Given the description of an element on the screen output the (x, y) to click on. 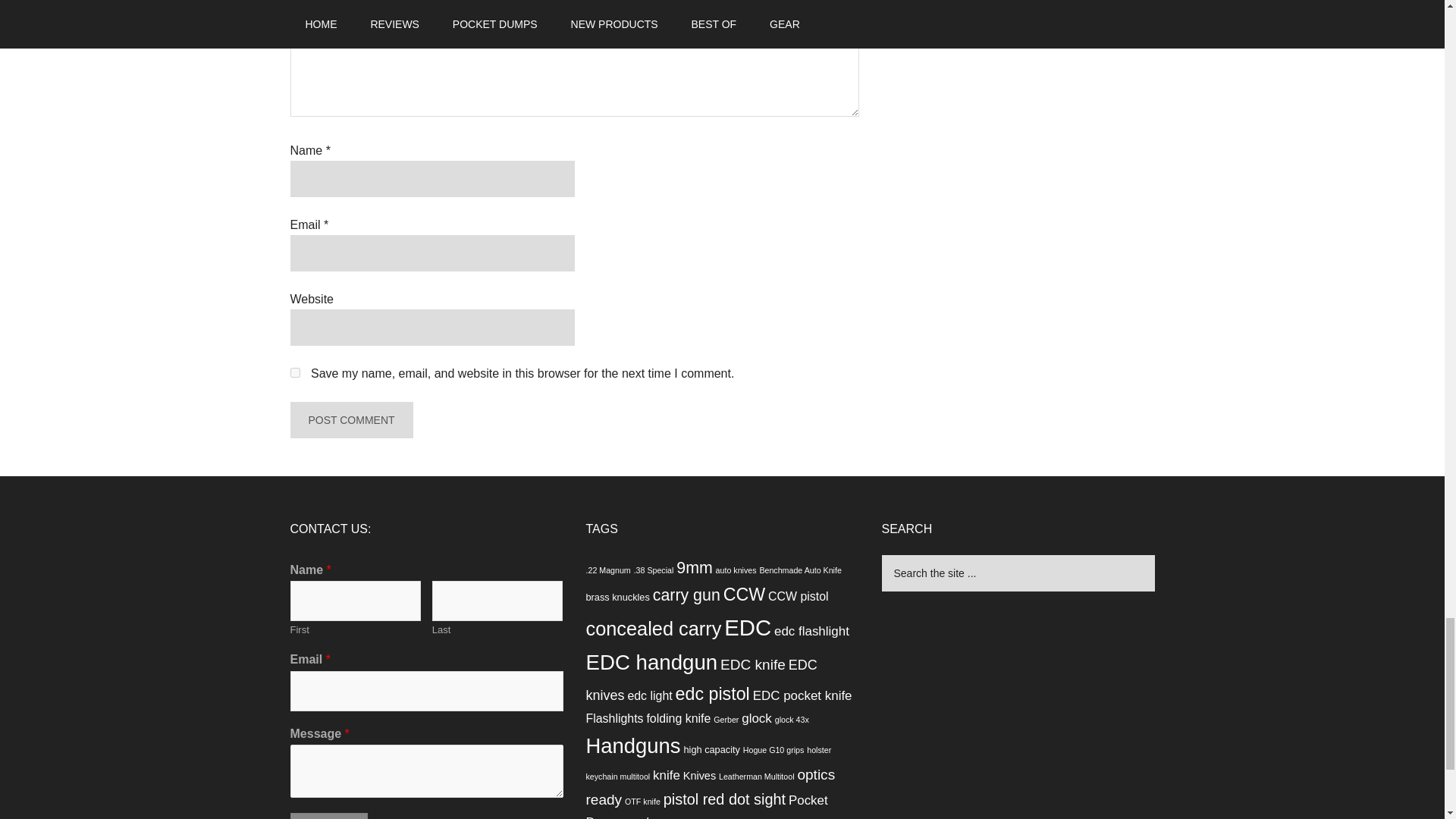
yes (294, 372)
Post Comment (350, 420)
Post Comment (350, 420)
